Given the description of an element on the screen output the (x, y) to click on. 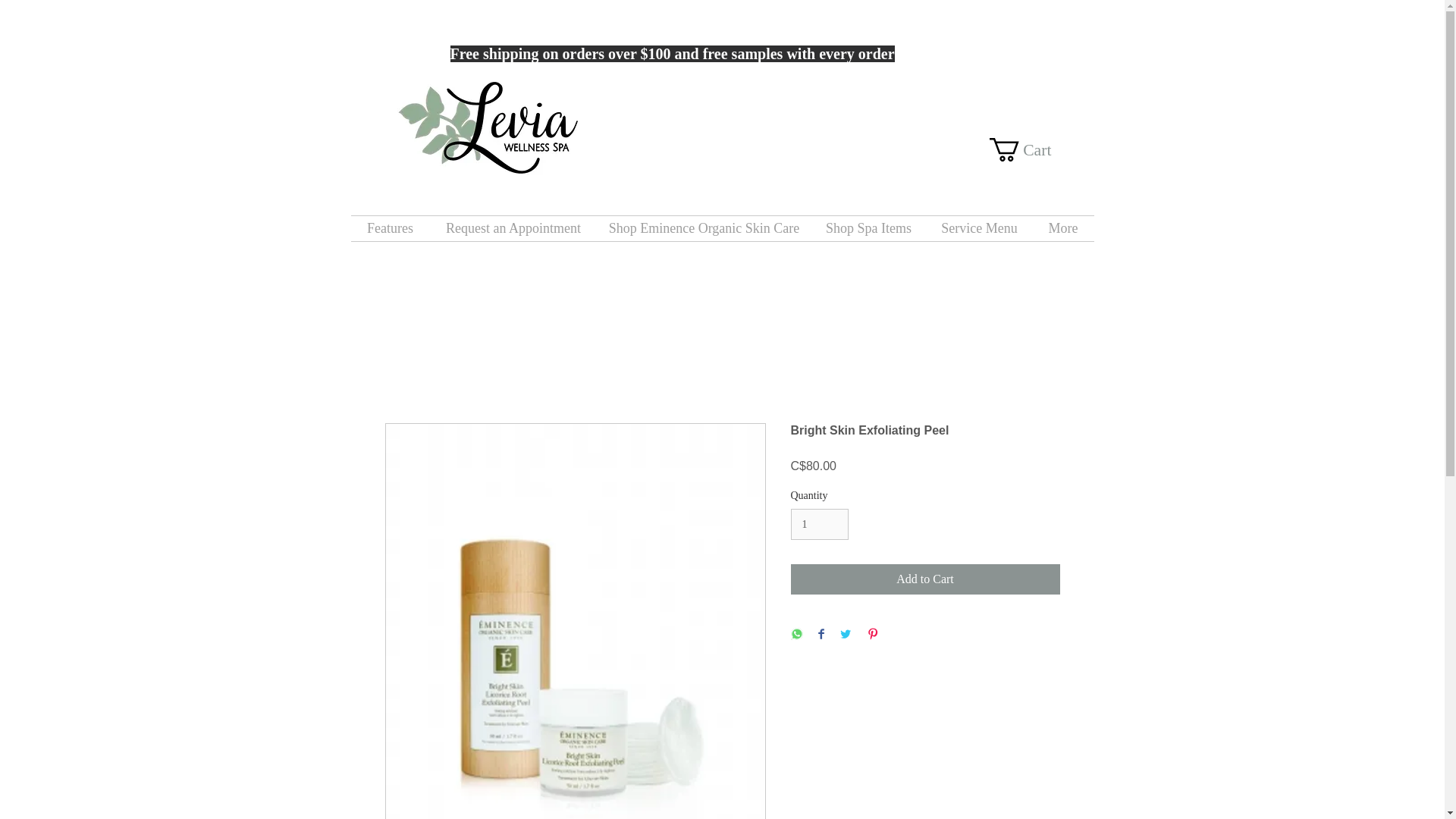
Cart (1032, 149)
Features (389, 228)
Shop Spa Items (868, 228)
Request an Appointment (512, 228)
Service Menu (979, 228)
1 (818, 523)
Cart (1032, 149)
